Given the description of an element on the screen output the (x, y) to click on. 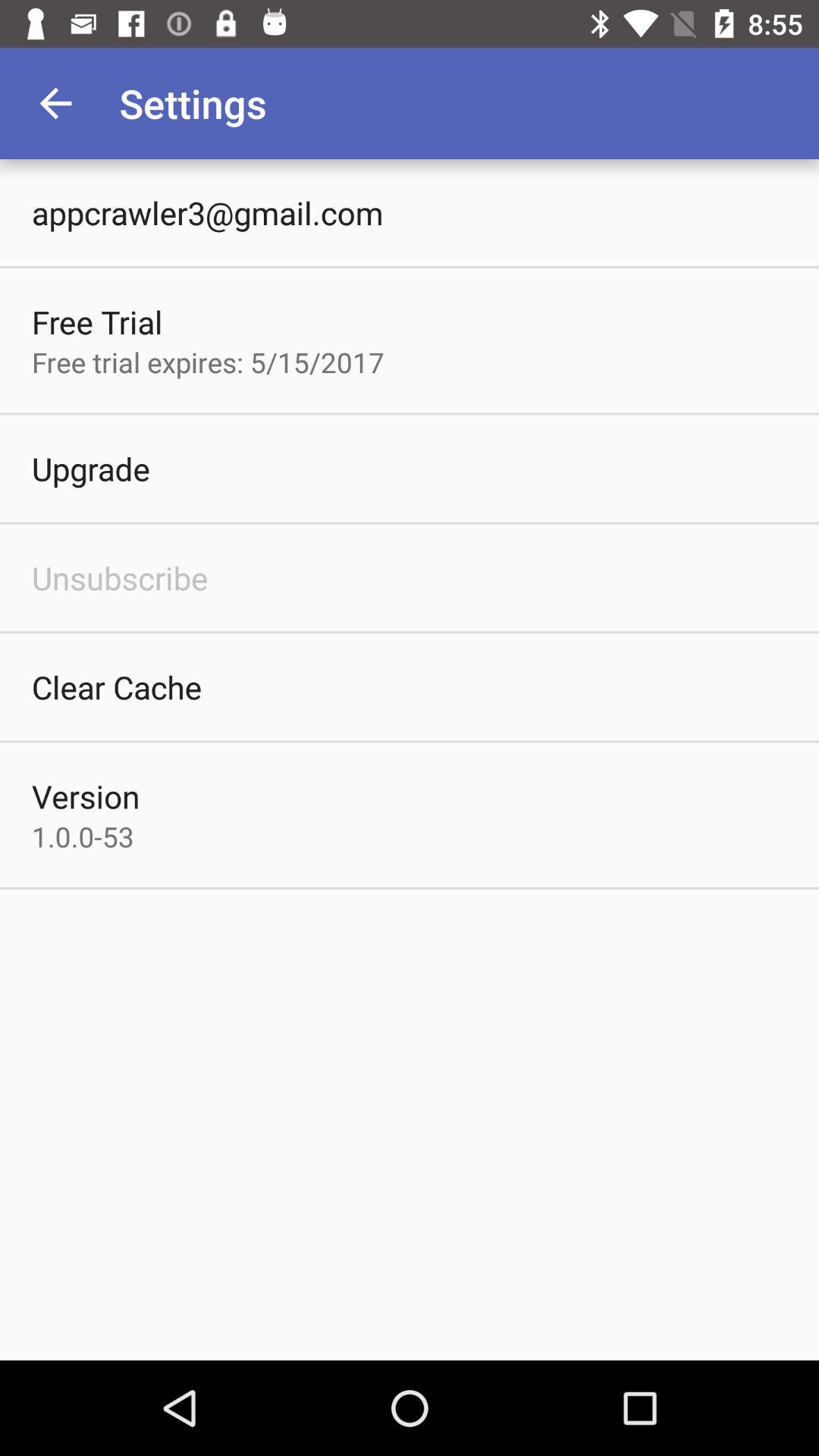
open the icon at the center (409, 759)
